Given the description of an element on the screen output the (x, y) to click on. 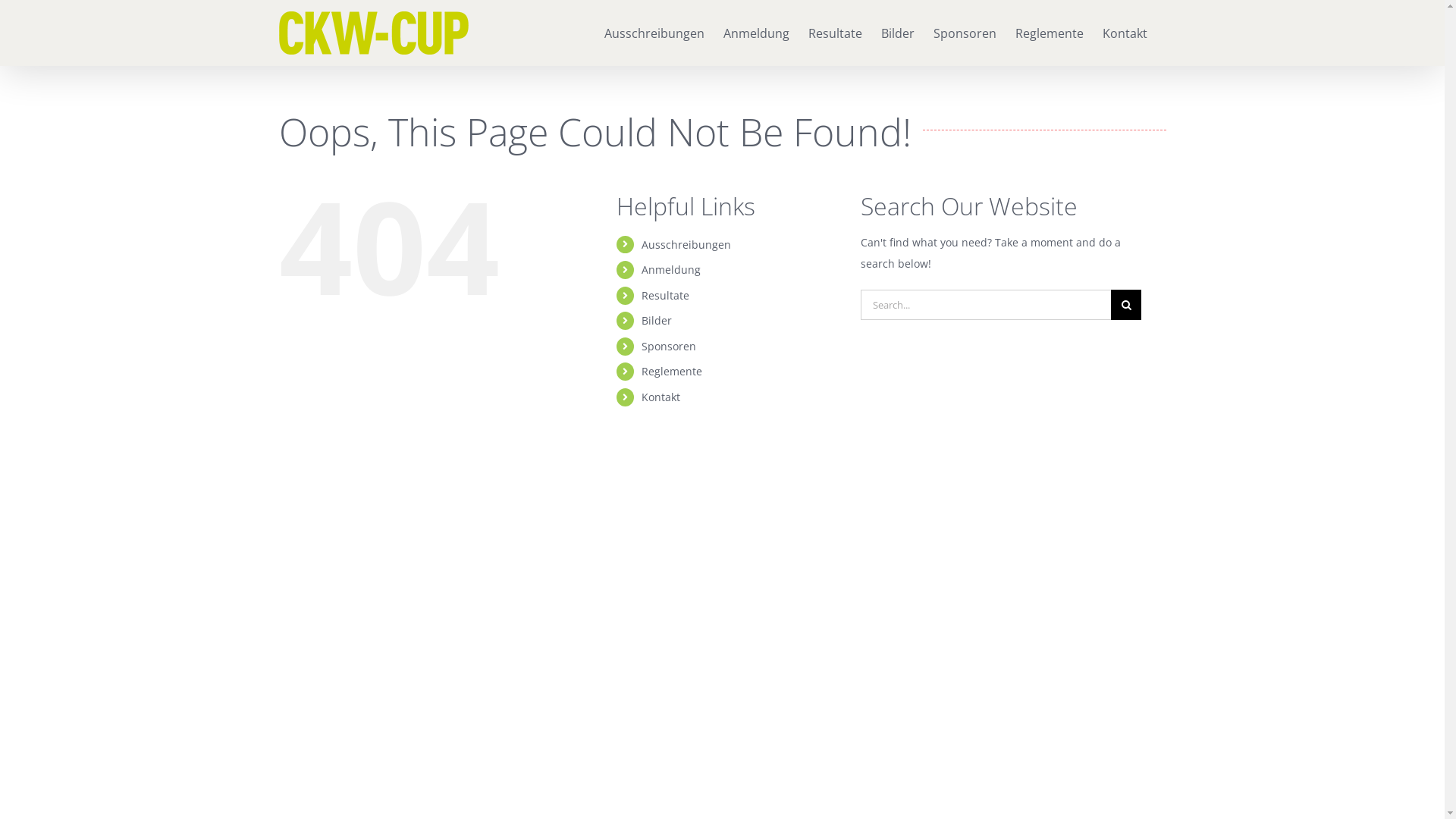
Ausschreibungen Element type: text (653, 31)
Bilder Element type: text (656, 320)
Kontakt Element type: text (660, 396)
Kontakt Element type: text (1124, 31)
Sponsoren Element type: text (668, 345)
Reglemente Element type: text (1048, 31)
Anmeldung Element type: text (756, 31)
Resultate Element type: text (835, 31)
Anmeldung Element type: text (670, 269)
Ausschreibungen Element type: text (686, 244)
Reglemente Element type: text (671, 371)
Sponsoren Element type: text (963, 31)
Bilder Element type: text (897, 31)
Resultate Element type: text (665, 295)
